Given the description of an element on the screen output the (x, y) to click on. 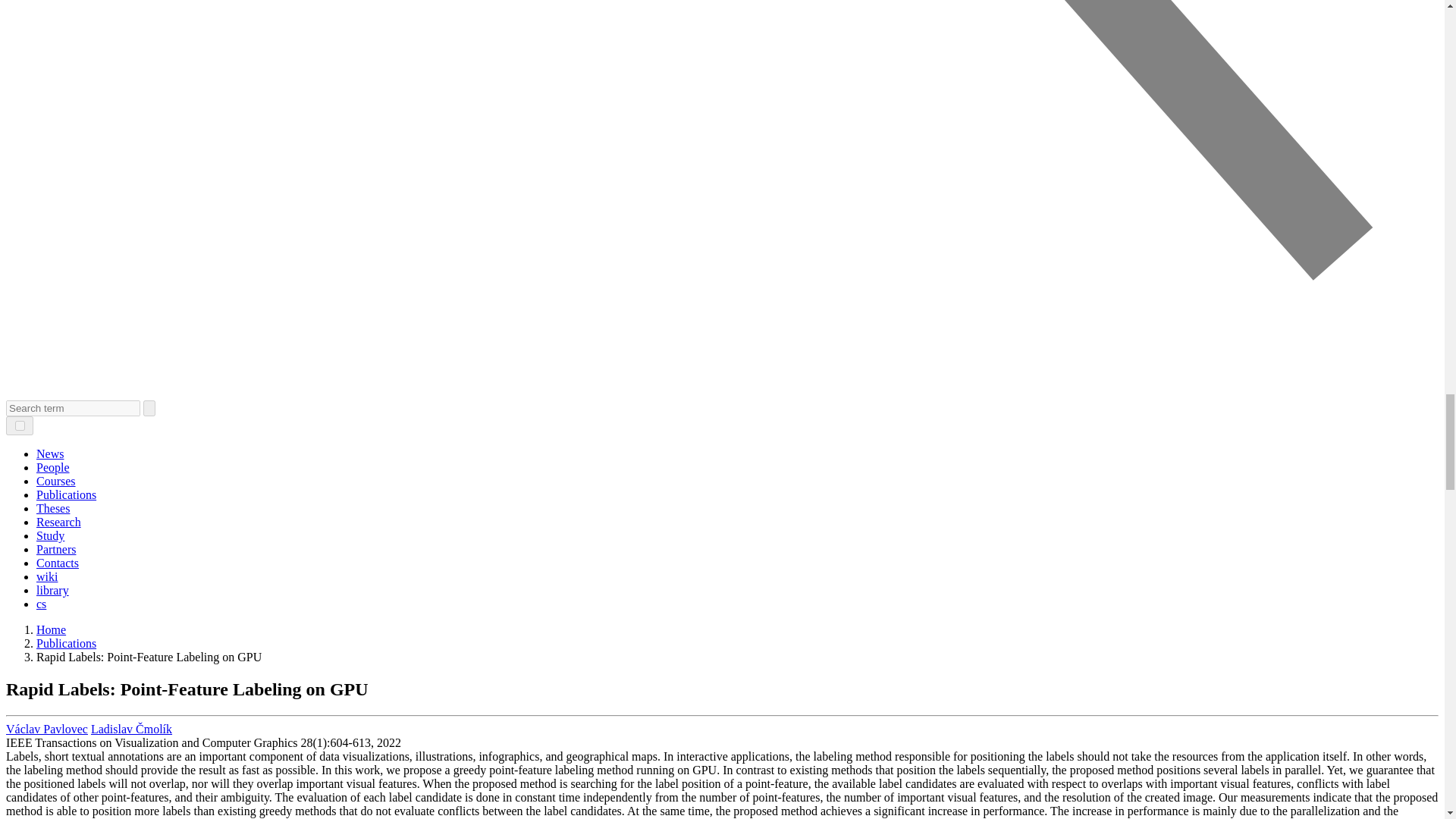
Home (50, 629)
Publications (66, 643)
Publications (66, 494)
People (52, 467)
Partners (55, 549)
Contacts (57, 562)
on (19, 425)
Research (58, 521)
library (52, 590)
News (50, 453)
wiki (47, 576)
Study (50, 535)
Theses (52, 508)
Courses (55, 481)
